Given the description of an element on the screen output the (x, y) to click on. 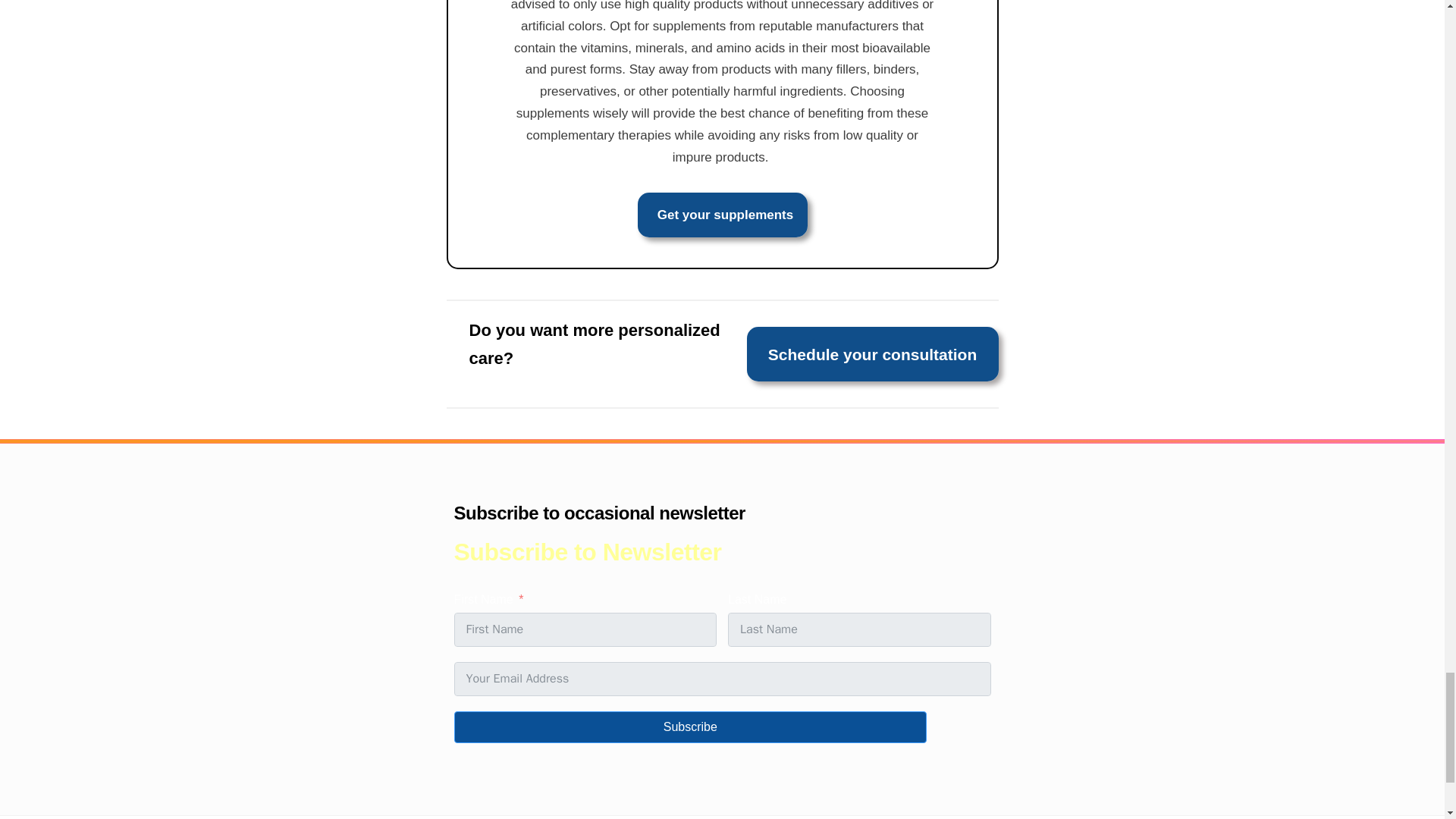
Schedule your consultation (872, 353)
Subscribe (689, 726)
Get your supplements (721, 214)
